Given the description of an element on the screen output the (x, y) to click on. 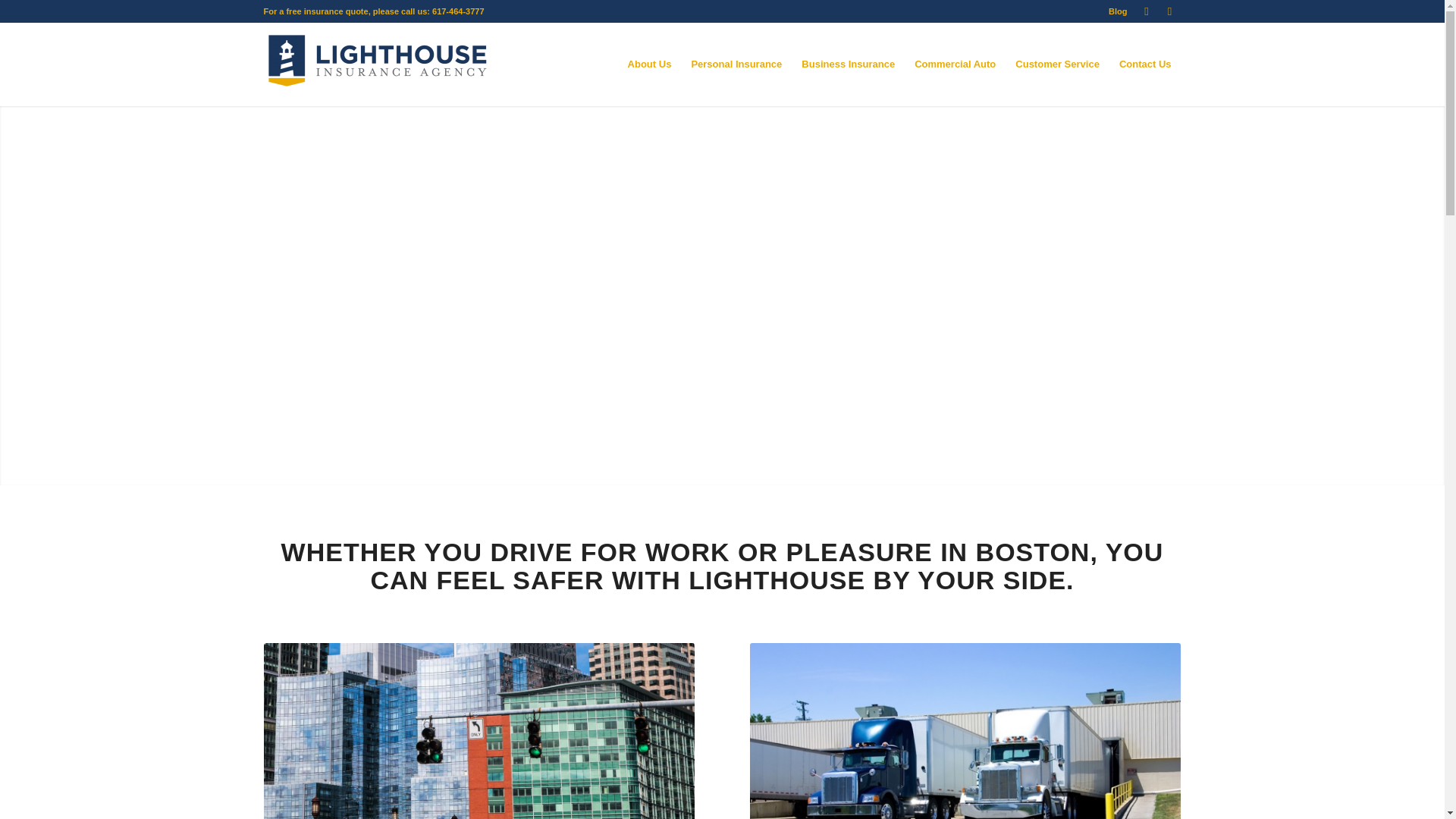
Contact Us (1144, 64)
Instagram (1146, 11)
lighthouse-homepage-trucking (964, 730)
Blog (1117, 11)
Business Insurance (848, 64)
Customer Service (1057, 64)
Commercial Auto (955, 64)
About Us (649, 64)
Facebook (1169, 11)
Personal Insurance (736, 64)
